Given the description of an element on the screen output the (x, y) to click on. 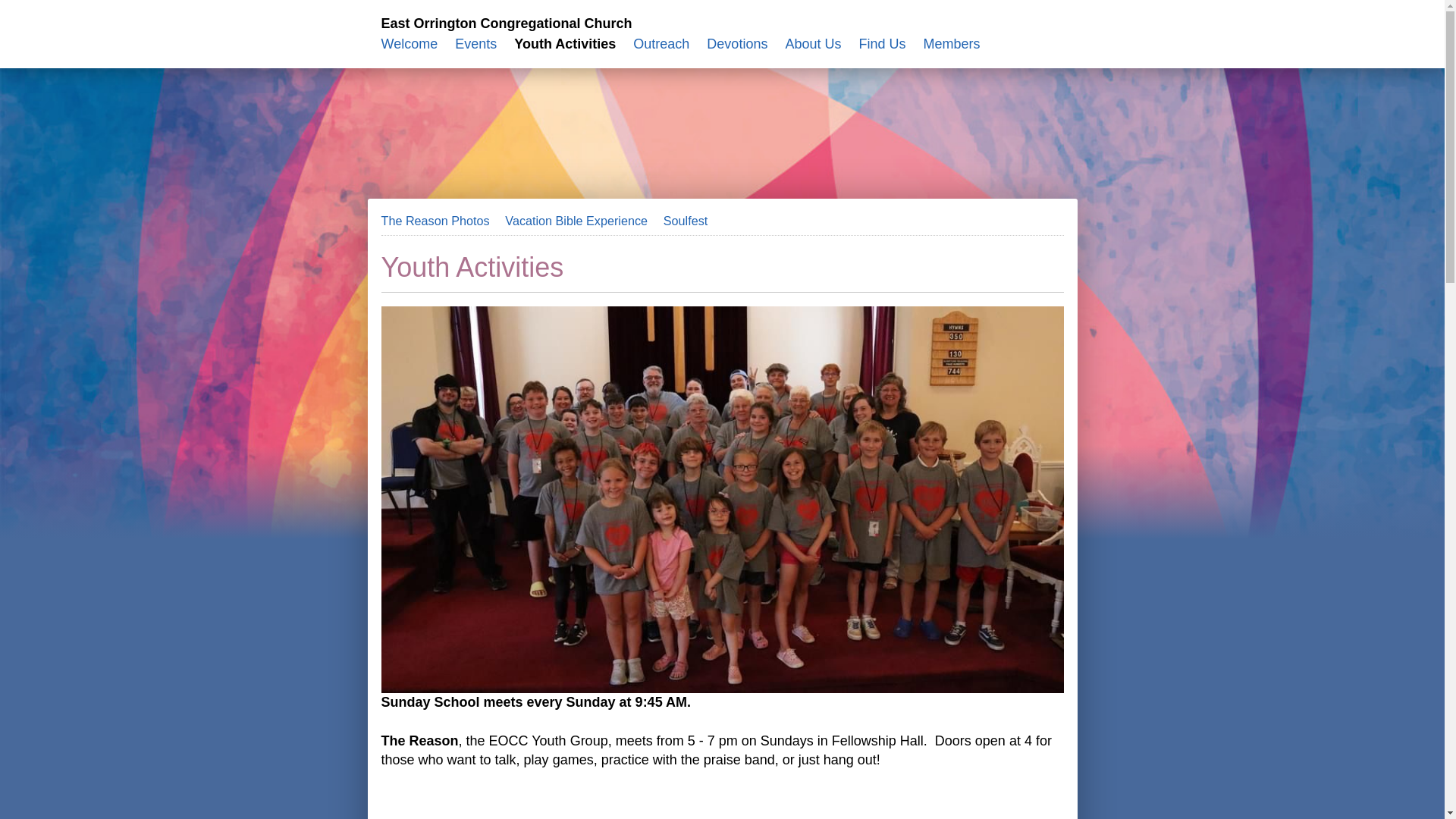
Vacation Bible Experience (576, 220)
Events (475, 44)
Find Us (882, 44)
Devotions (736, 44)
Members (951, 44)
Welcome (409, 44)
The Reason Photos (434, 220)
Soulfest (685, 220)
Outreach (660, 44)
